Given the description of an element on the screen output the (x, y) to click on. 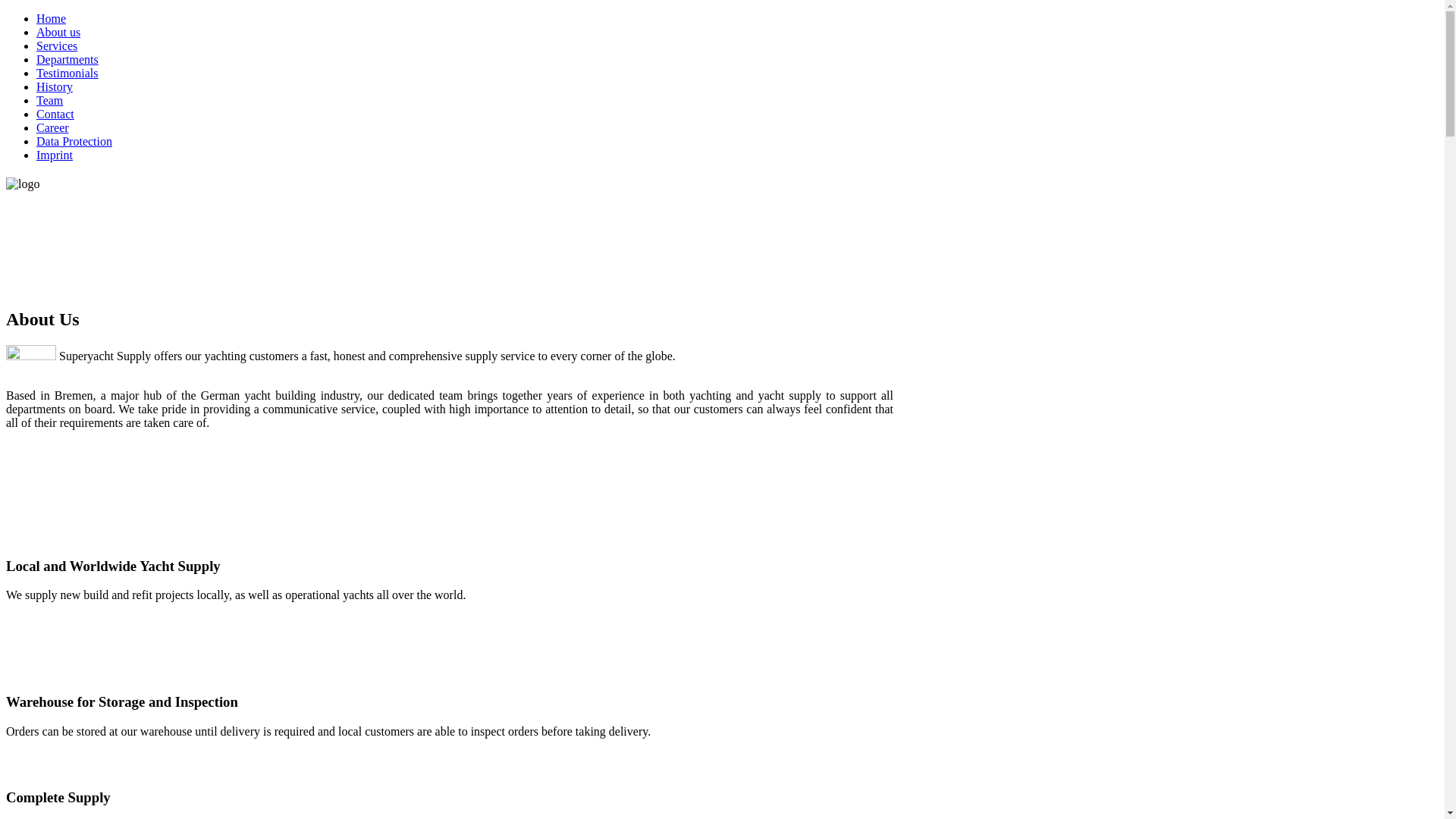
About us Element type: text (58, 31)
Career Element type: text (52, 127)
Imprint Element type: text (54, 154)
Testimonials Element type: text (67, 72)
Data Protection Element type: text (74, 140)
Contact Element type: text (55, 113)
Departments Element type: text (67, 59)
Home Element type: text (50, 18)
Services Element type: text (56, 45)
History Element type: text (54, 86)
Team Element type: text (49, 100)
